Given the description of an element on the screen output the (x, y) to click on. 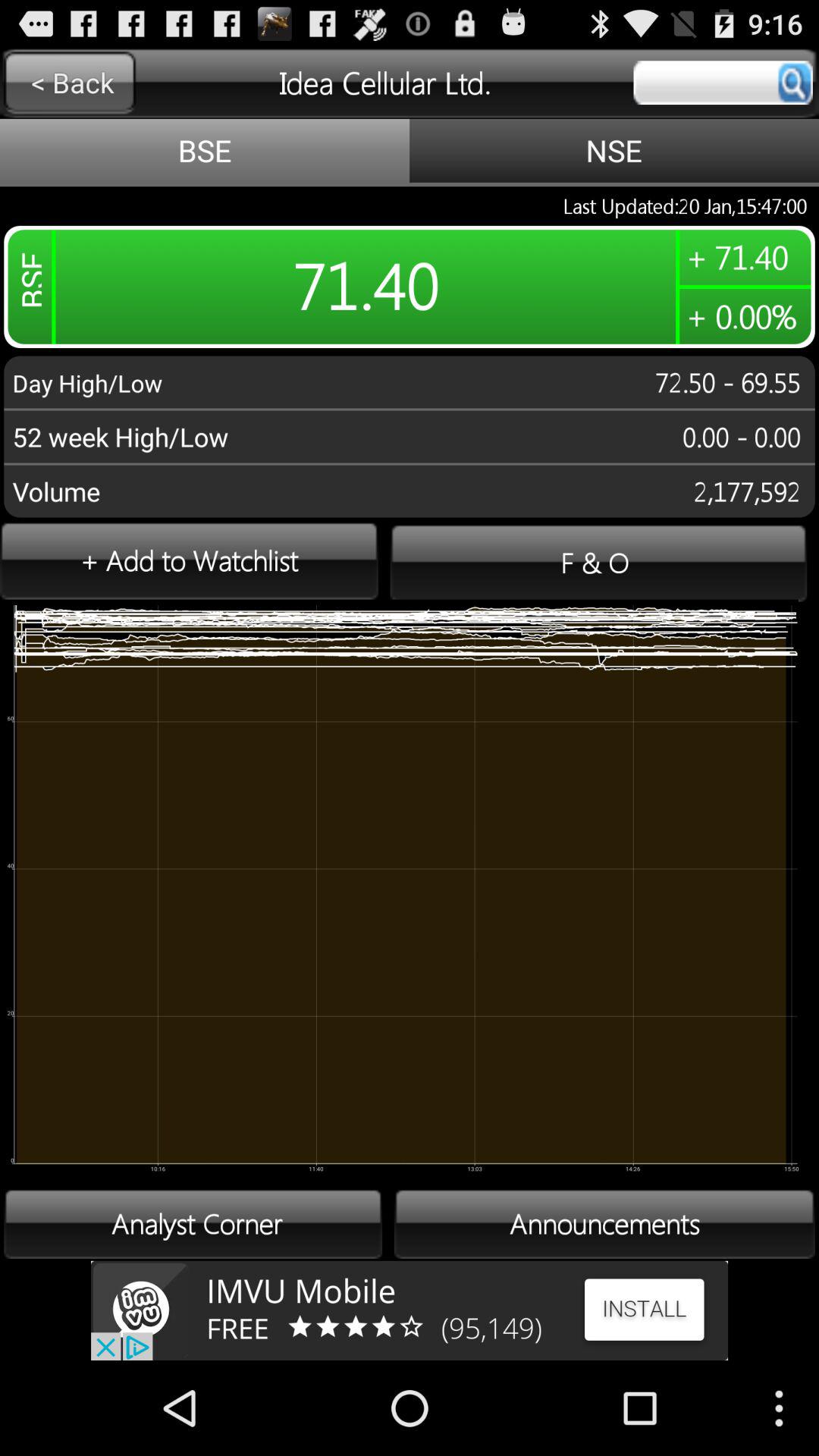
search bar (722, 82)
